Given the description of an element on the screen output the (x, y) to click on. 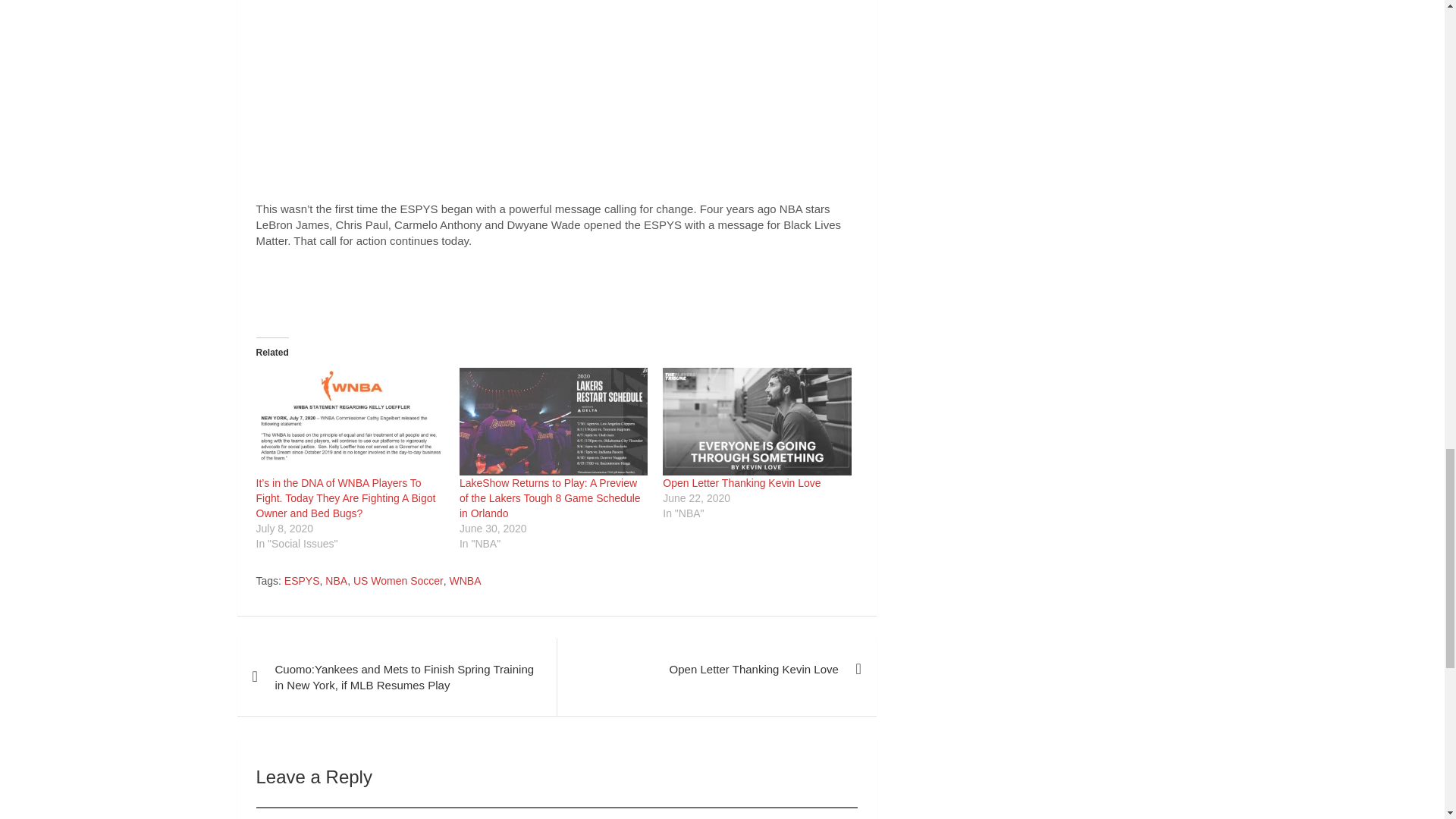
NBA (335, 581)
ESPYS (301, 581)
US Women Soccer (398, 581)
Open Letter Thanking Kevin Love (716, 669)
WNBA (464, 581)
Open Letter Thanking Kevin Love (741, 482)
Open Letter Thanking Kevin Love (741, 482)
Open Letter Thanking Kevin Love (756, 421)
